Given the description of an element on the screen output the (x, y) to click on. 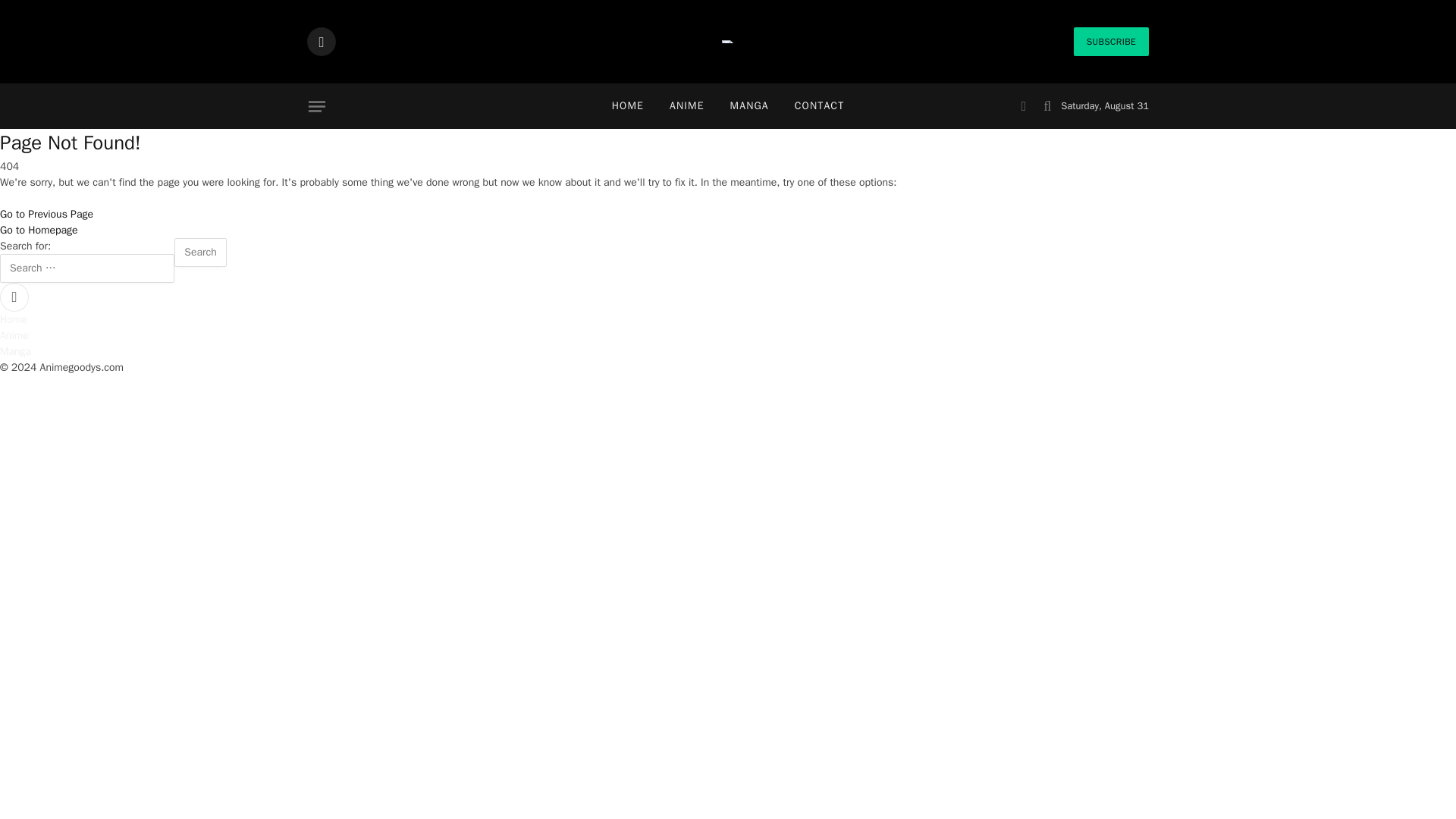
Manga (15, 350)
Anime (14, 335)
ANIME (686, 105)
Pinterest (14, 297)
Pinterest (321, 41)
Search (200, 252)
CONTACT (819, 105)
MANGA (749, 105)
Go to Previous Page (46, 214)
Search (200, 252)
